Given the description of an element on the screen output the (x, y) to click on. 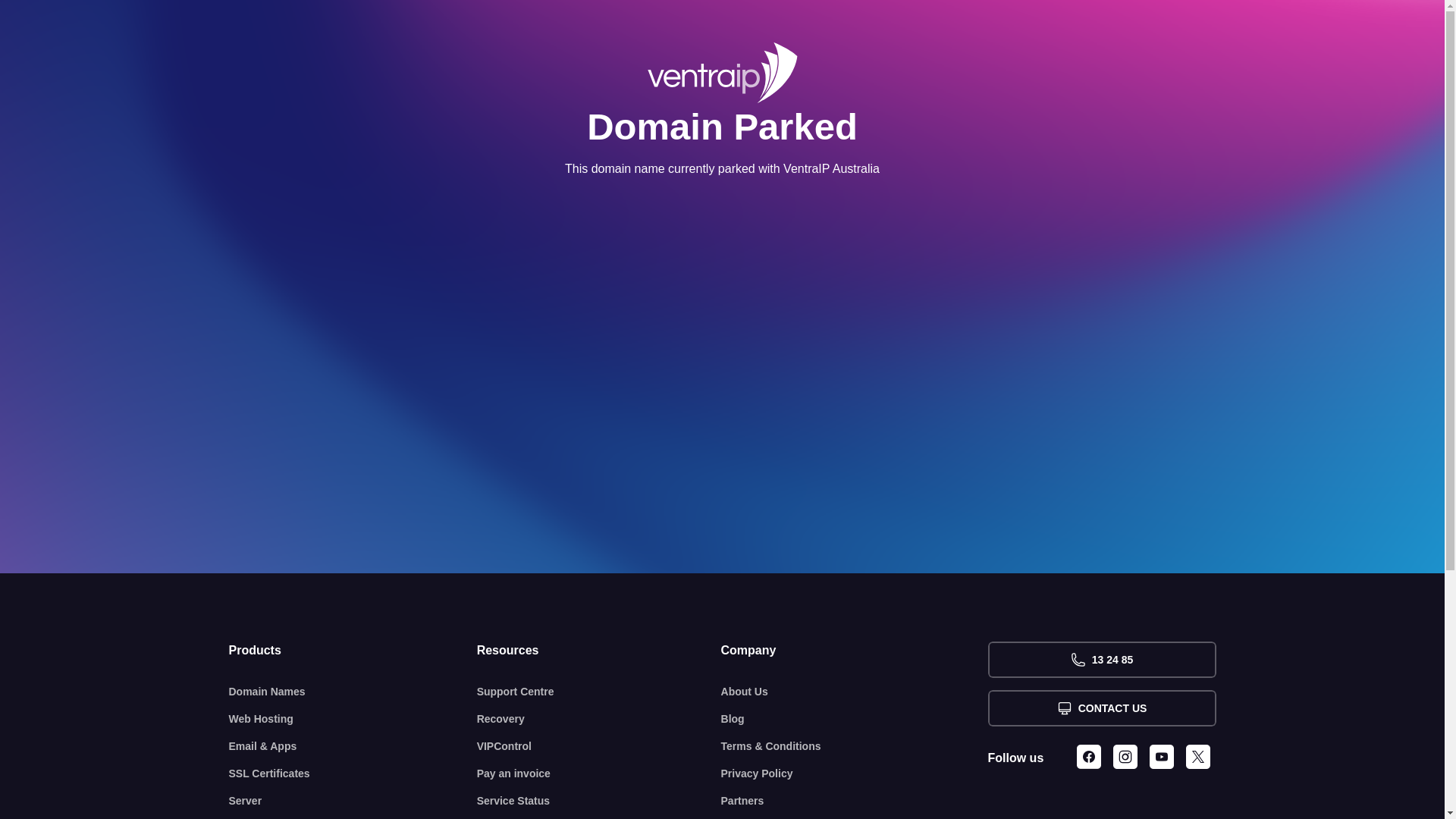
About Us Element type: text (854, 691)
CONTACT US Element type: text (1101, 708)
Partners Element type: text (854, 800)
Service Status Element type: text (598, 800)
Blog Element type: text (854, 718)
Terms & Conditions Element type: text (854, 745)
Server Element type: text (352, 800)
Pay an invoice Element type: text (598, 773)
VIPControl Element type: text (598, 745)
Recovery Element type: text (598, 718)
Support Centre Element type: text (598, 691)
Domain Names Element type: text (352, 691)
Privacy Policy Element type: text (854, 773)
SSL Certificates Element type: text (352, 773)
Email & Apps Element type: text (352, 745)
Web Hosting Element type: text (352, 718)
13 24 85 Element type: text (1101, 659)
